Given the description of an element on the screen output the (x, y) to click on. 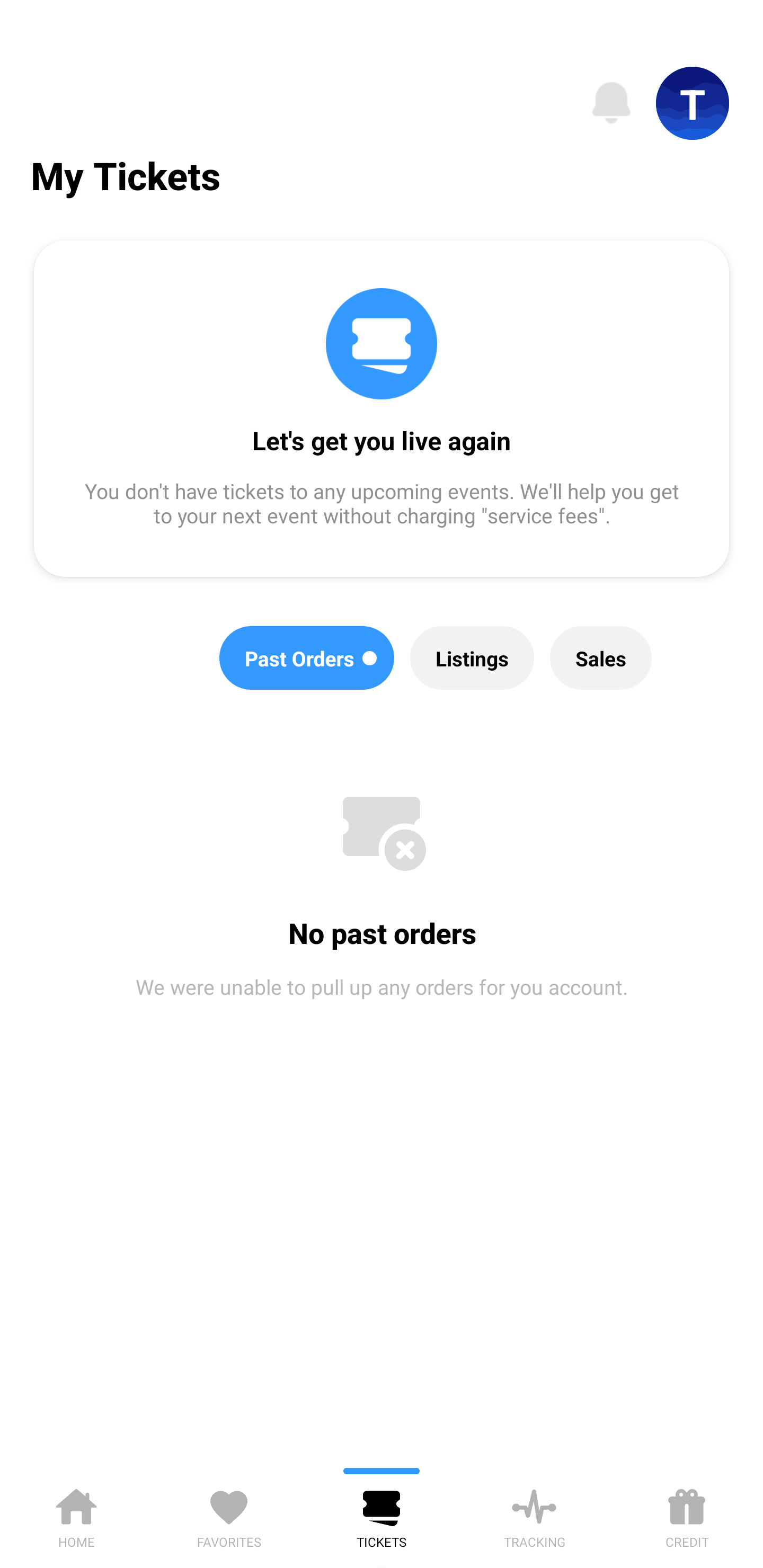
T (692, 103)
Past Orders (306, 657)
Listings (472, 657)
Sales (600, 657)
HOME (76, 1515)
FAVORITES (228, 1515)
TICKETS (381, 1515)
TRACKING (533, 1515)
CREDIT (686, 1515)
